Given the description of an element on the screen output the (x, y) to click on. 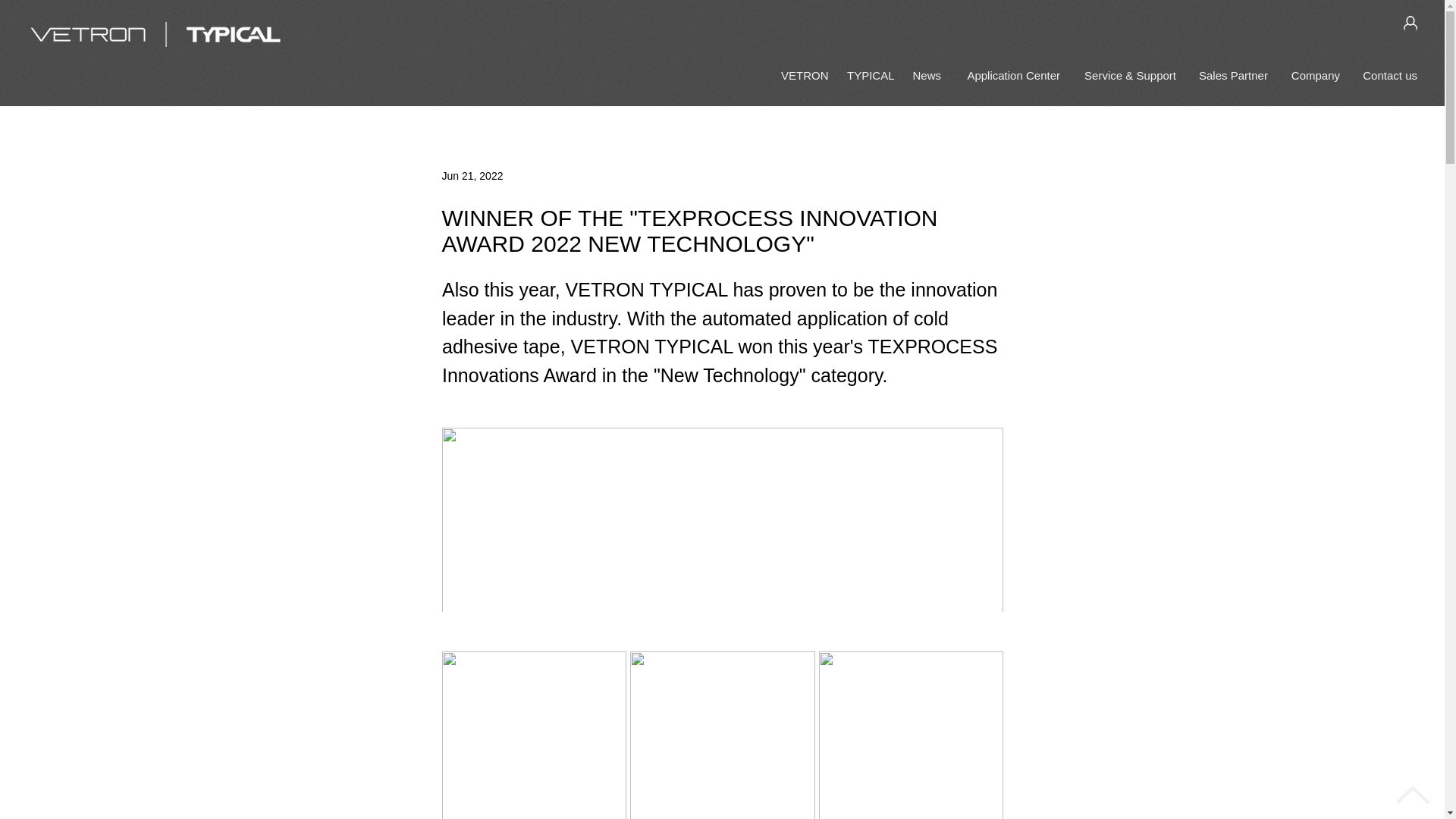
Jun 21, 2022 (471, 175)
VETRON (802, 75)
TYPICAL (868, 75)
Sales Partner (1233, 75)
Application Center (1011, 75)
News (926, 75)
Company (1314, 75)
Contact us (1389, 75)
